Given the description of an element on the screen output the (x, y) to click on. 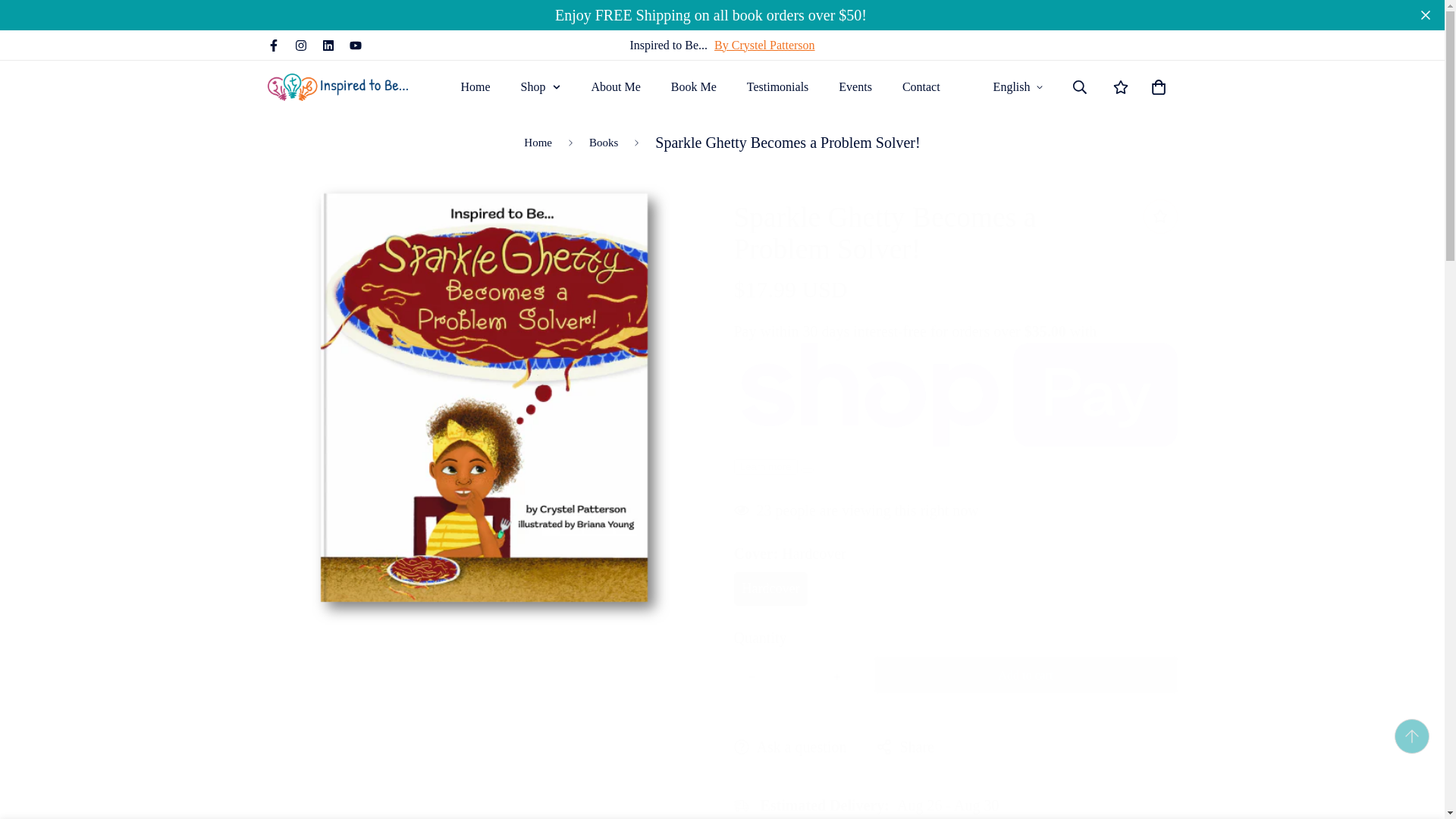
Testimonials (778, 86)
Contact (700, 86)
About Me (920, 86)
Inspired to Be... (615, 86)
1 (336, 86)
Home (793, 676)
Events (475, 86)
Home (855, 86)
